Given the description of an element on the screen output the (x, y) to click on. 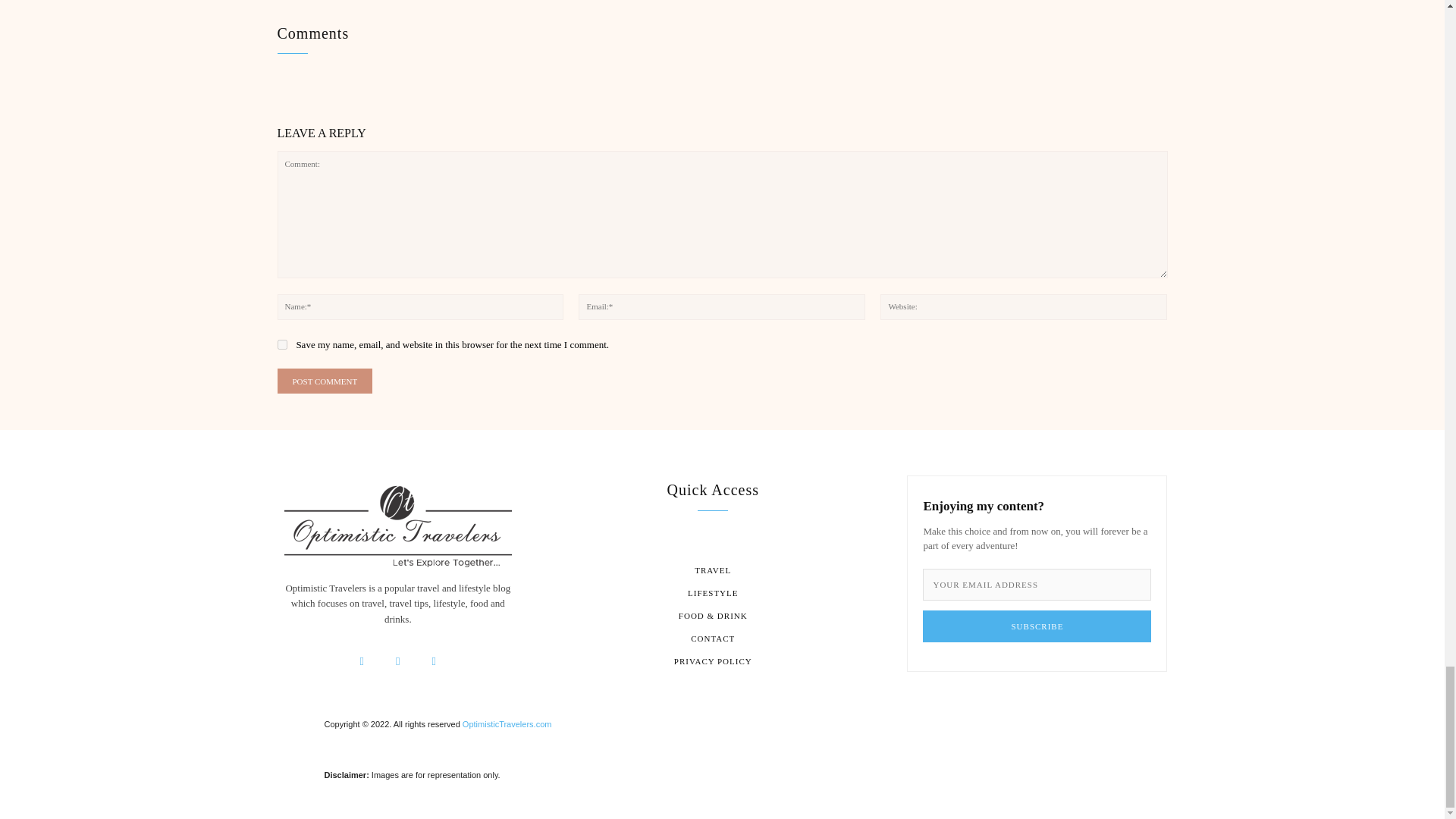
Post Comment (325, 380)
yes (282, 344)
